Given the description of an element on the screen output the (x, y) to click on. 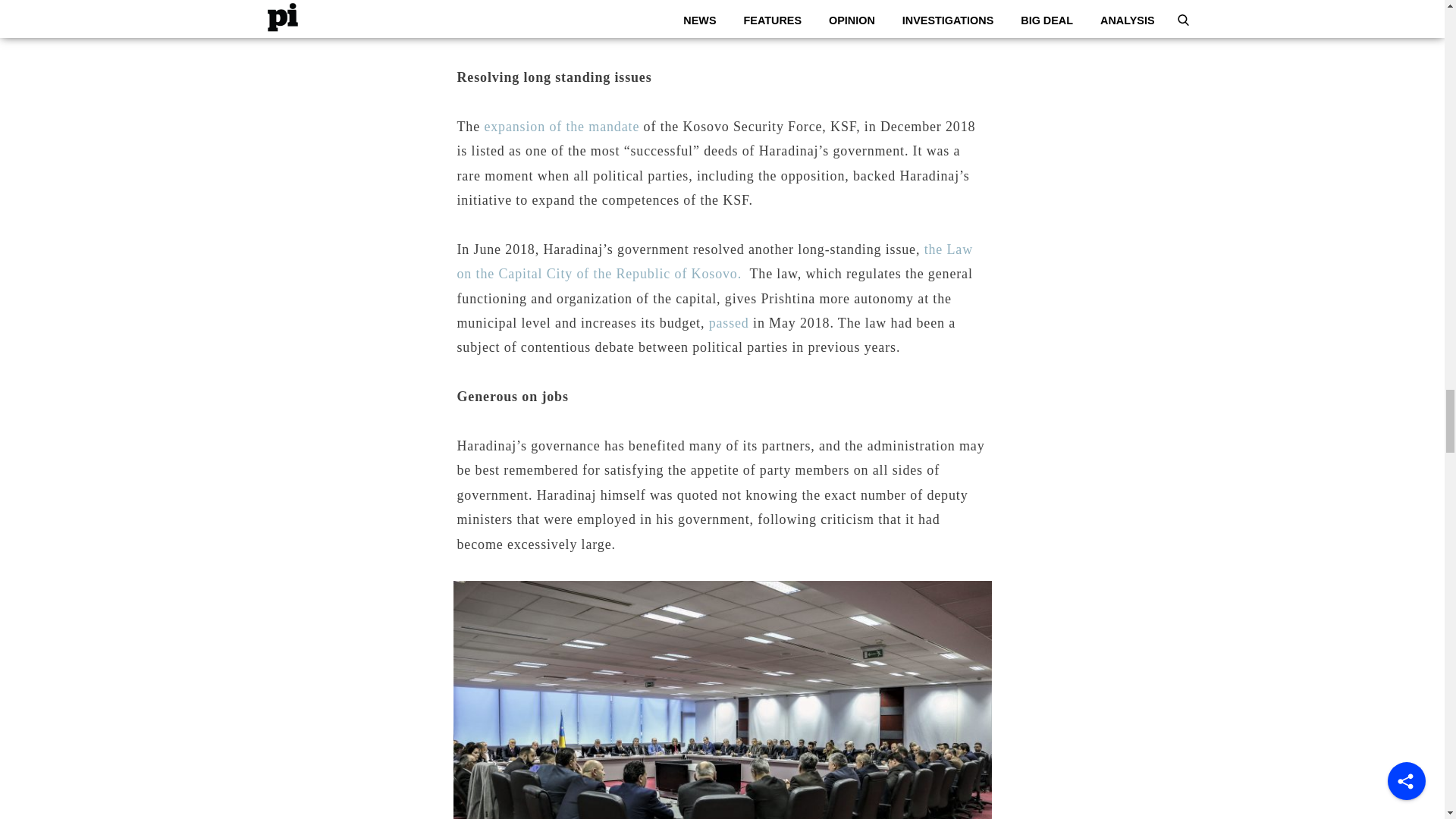
the Law on the Capital City of the Republic of Kosovo. (714, 261)
expansion of the mandate (561, 126)
passed (729, 322)
